Given the description of an element on the screen output the (x, y) to click on. 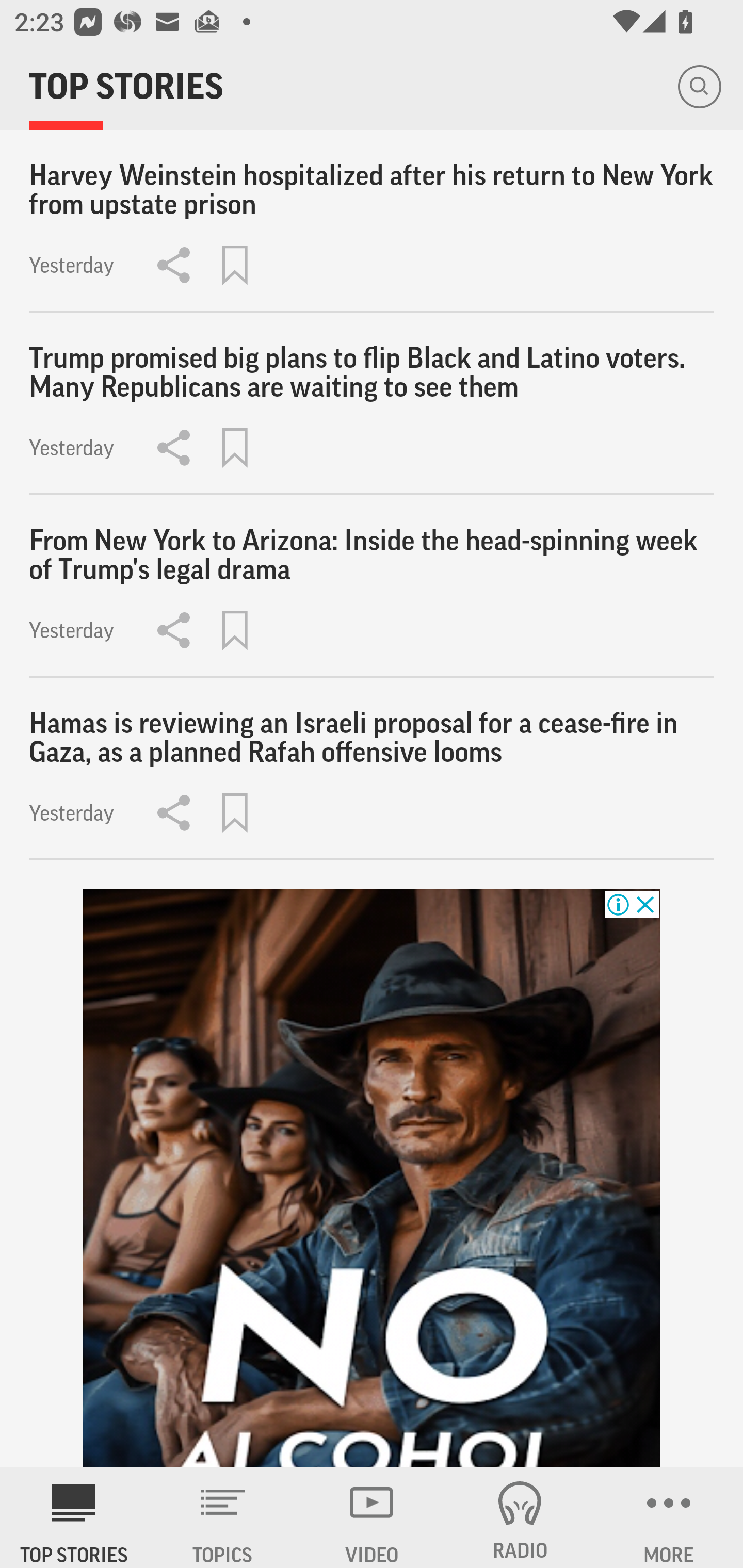
AP News TOP STORIES (74, 1517)
TOPICS (222, 1517)
VIDEO (371, 1517)
RADIO (519, 1517)
MORE (668, 1517)
